Given the description of an element on the screen output the (x, y) to click on. 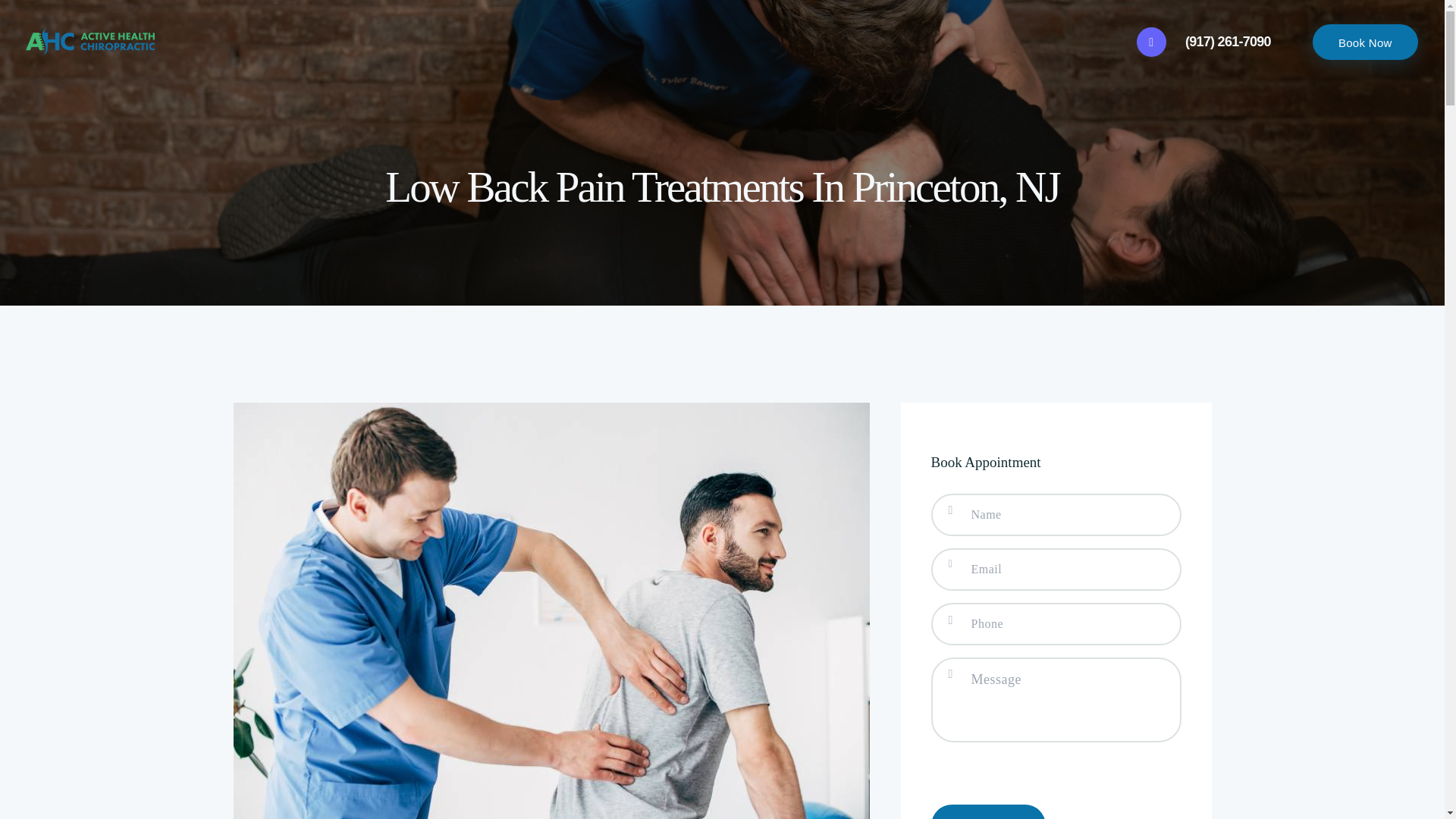
Book Now (1365, 41)
Submit (988, 811)
